Given the description of an element on the screen output the (x, y) to click on. 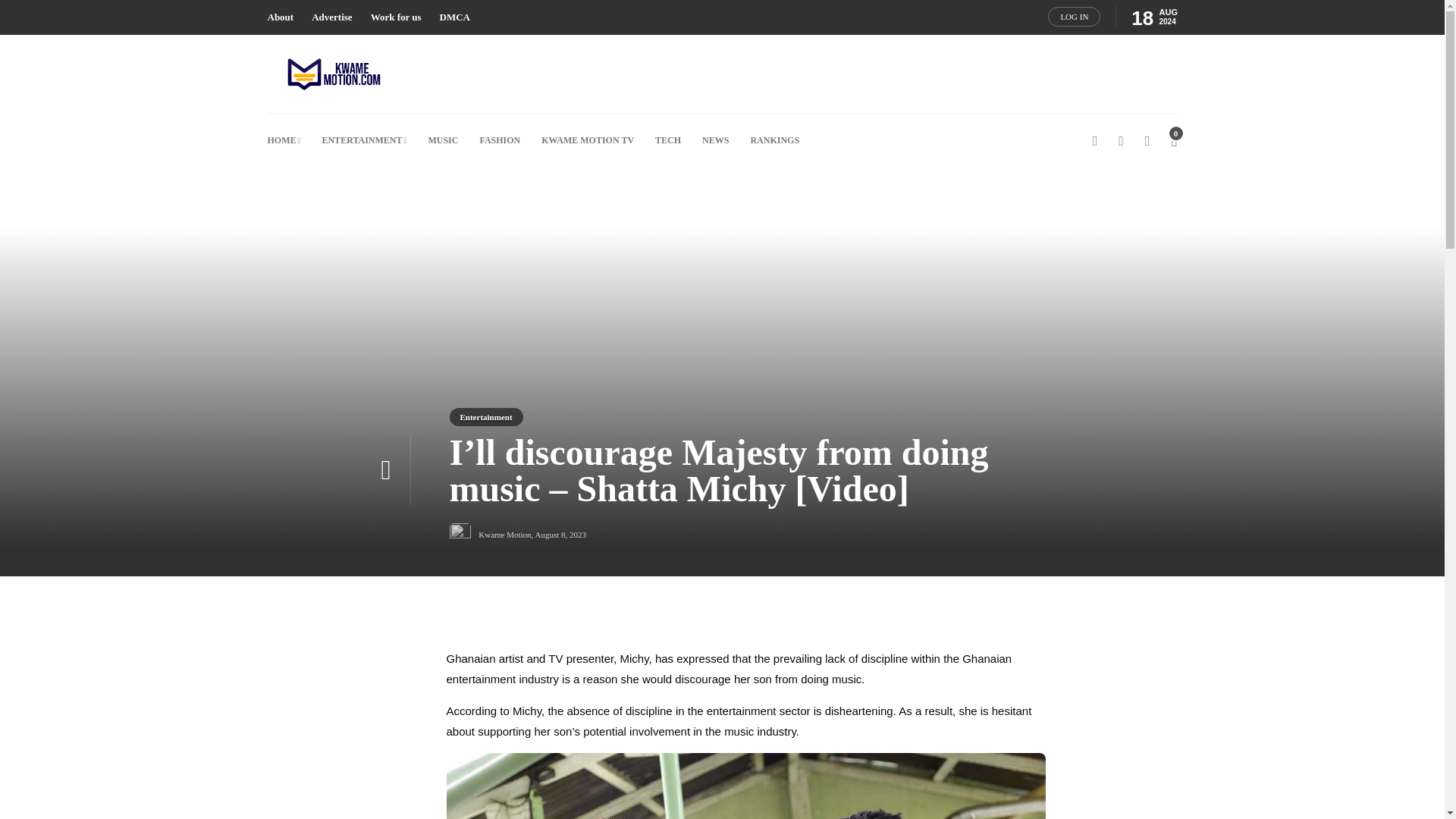
LOG IN (1074, 16)
Work for us (396, 17)
DMCA (454, 17)
Advertise (331, 17)
